Given the description of an element on the screen output the (x, y) to click on. 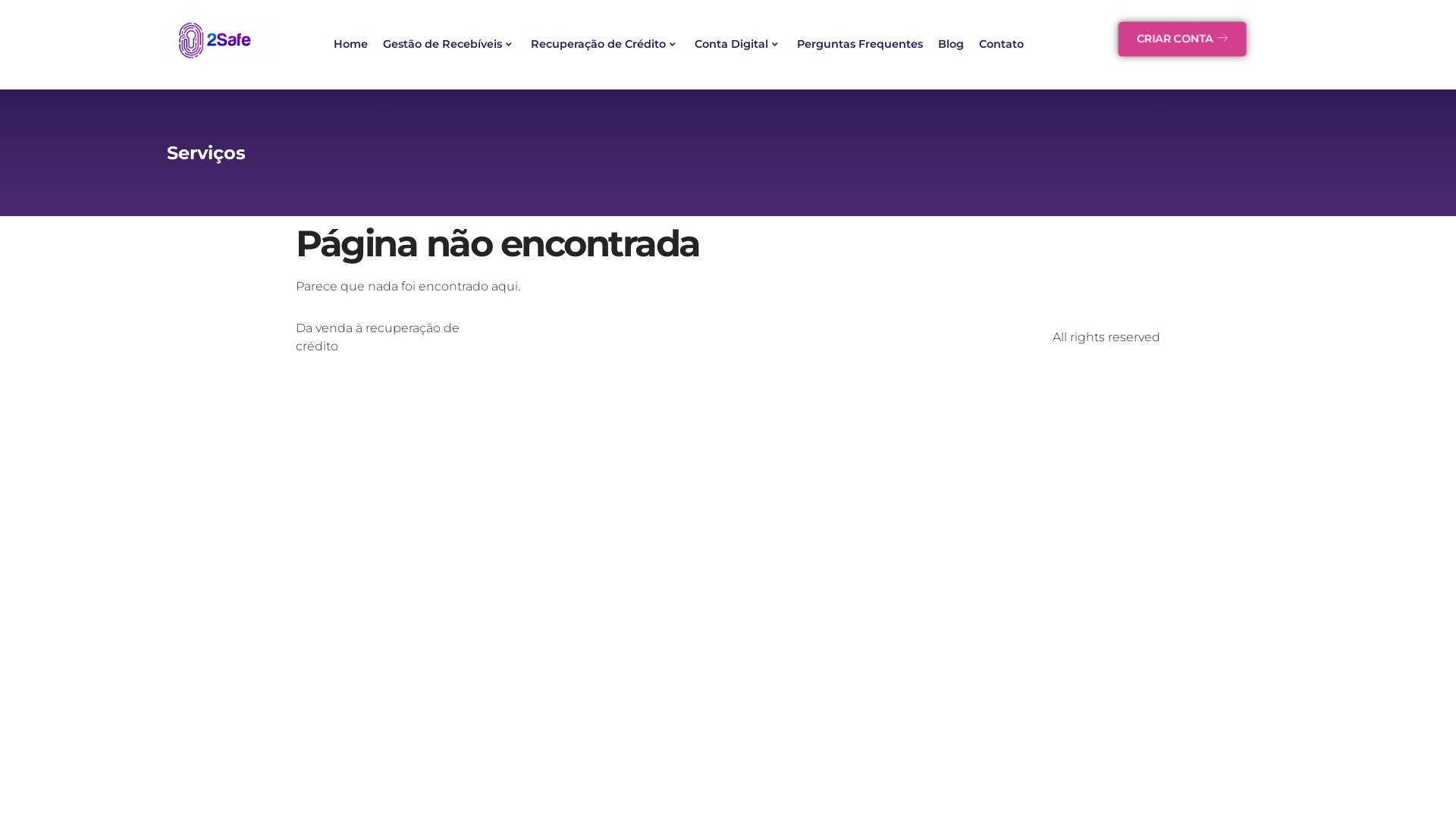
Blog Element type: text (950, 44)
CRIAR CONTA Element type: text (1182, 38)
Perguntas Frequentes Element type: text (859, 44)
logo-2sfaeparabaranco Element type: hover (219, 40)
Conta Digital Element type: text (738, 44)
Contato Element type: text (1001, 44)
Home Element type: text (350, 44)
